Given the description of an element on the screen output the (x, y) to click on. 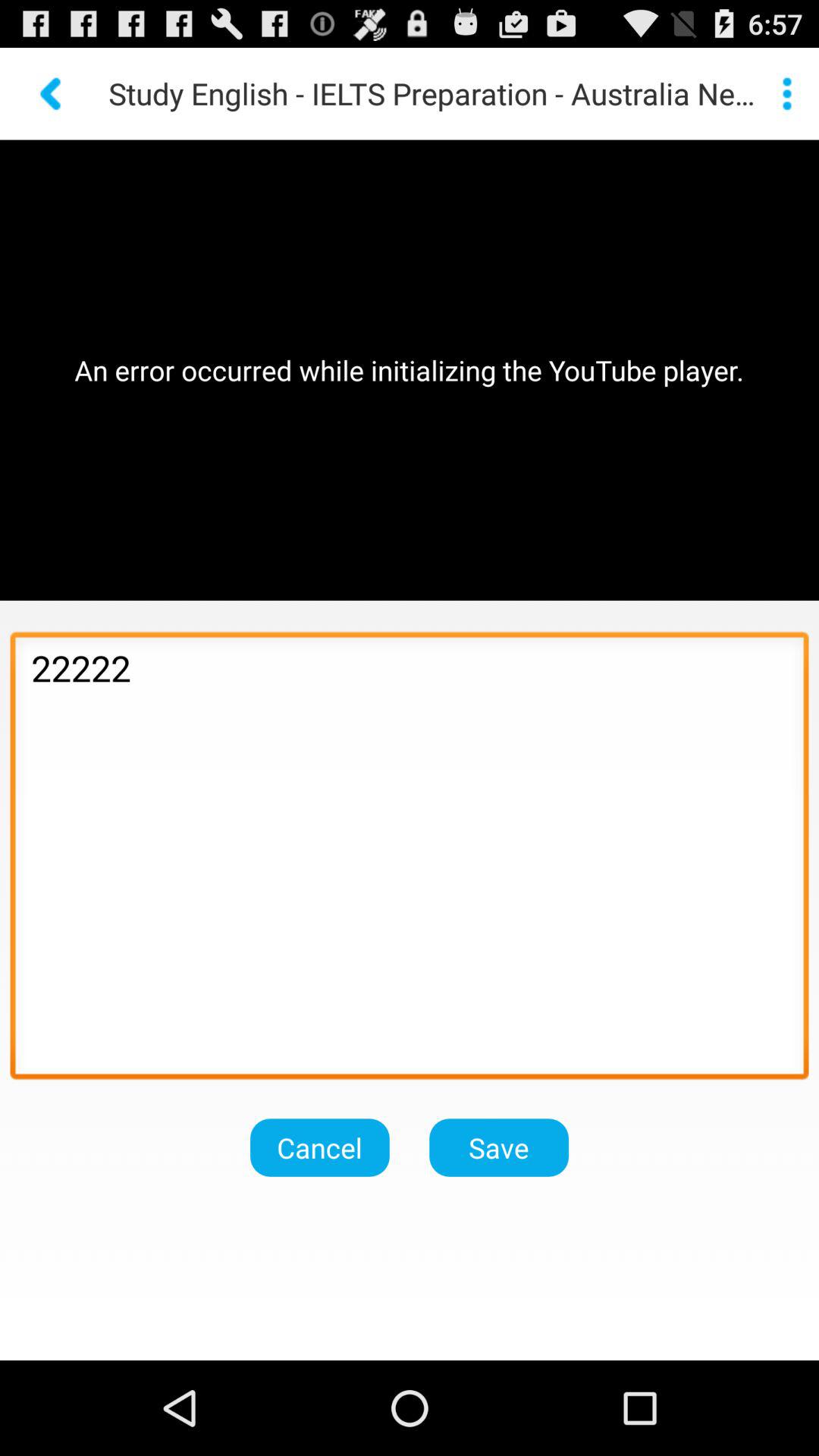
go back (52, 93)
